Given the description of an element on the screen output the (x, y) to click on. 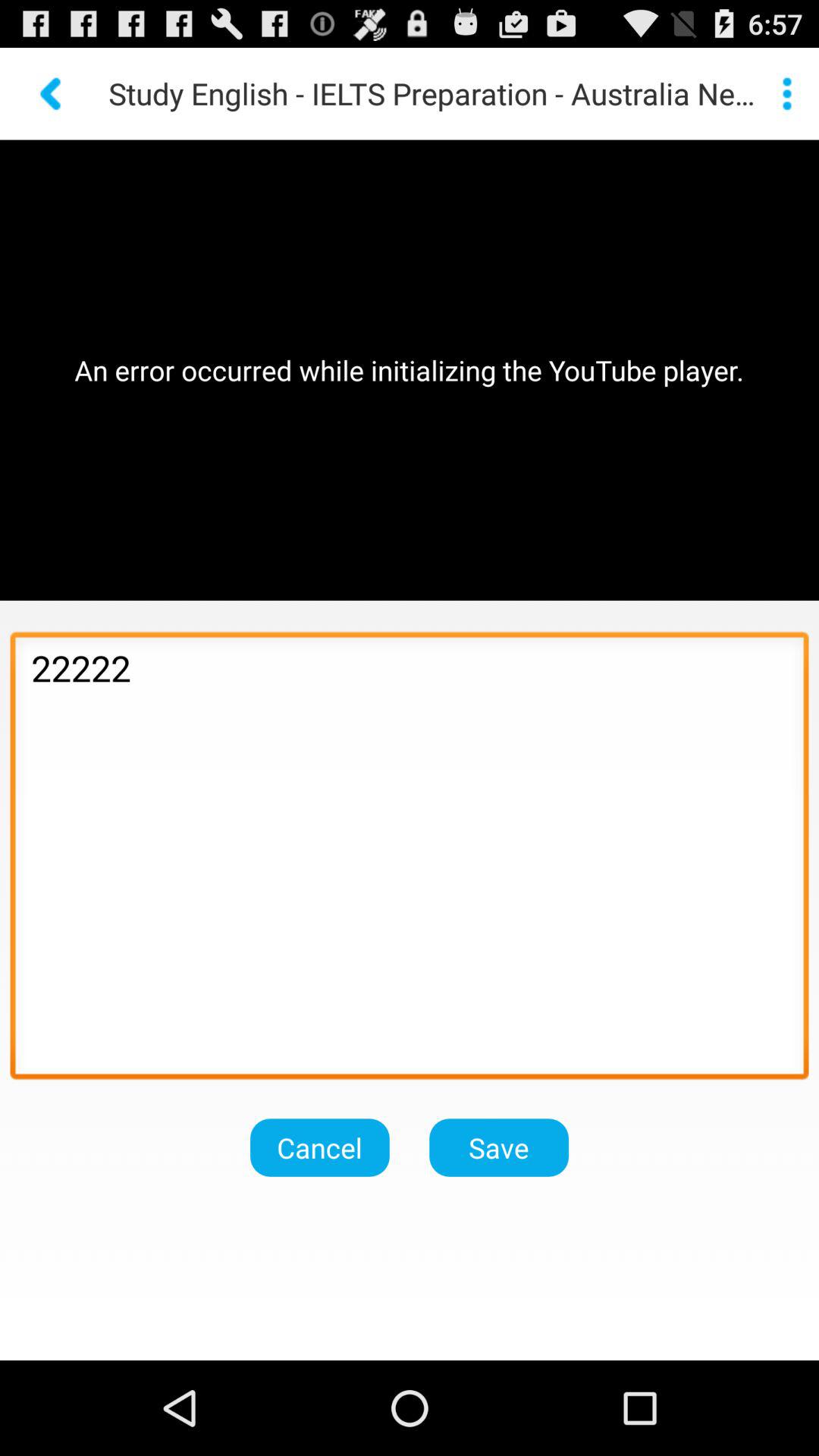
go back (52, 93)
